Given the description of an element on the screen output the (x, y) to click on. 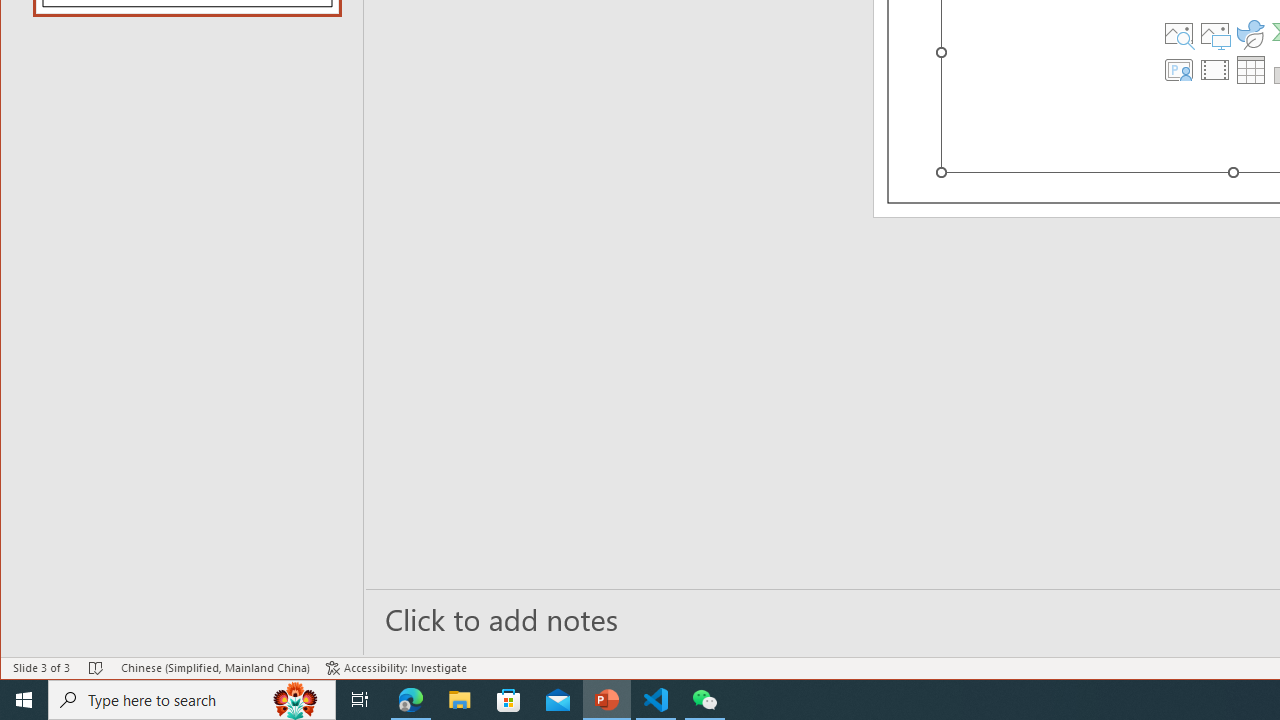
Insert an Icon (1251, 33)
